Given the description of an element on the screen output the (x, y) to click on. 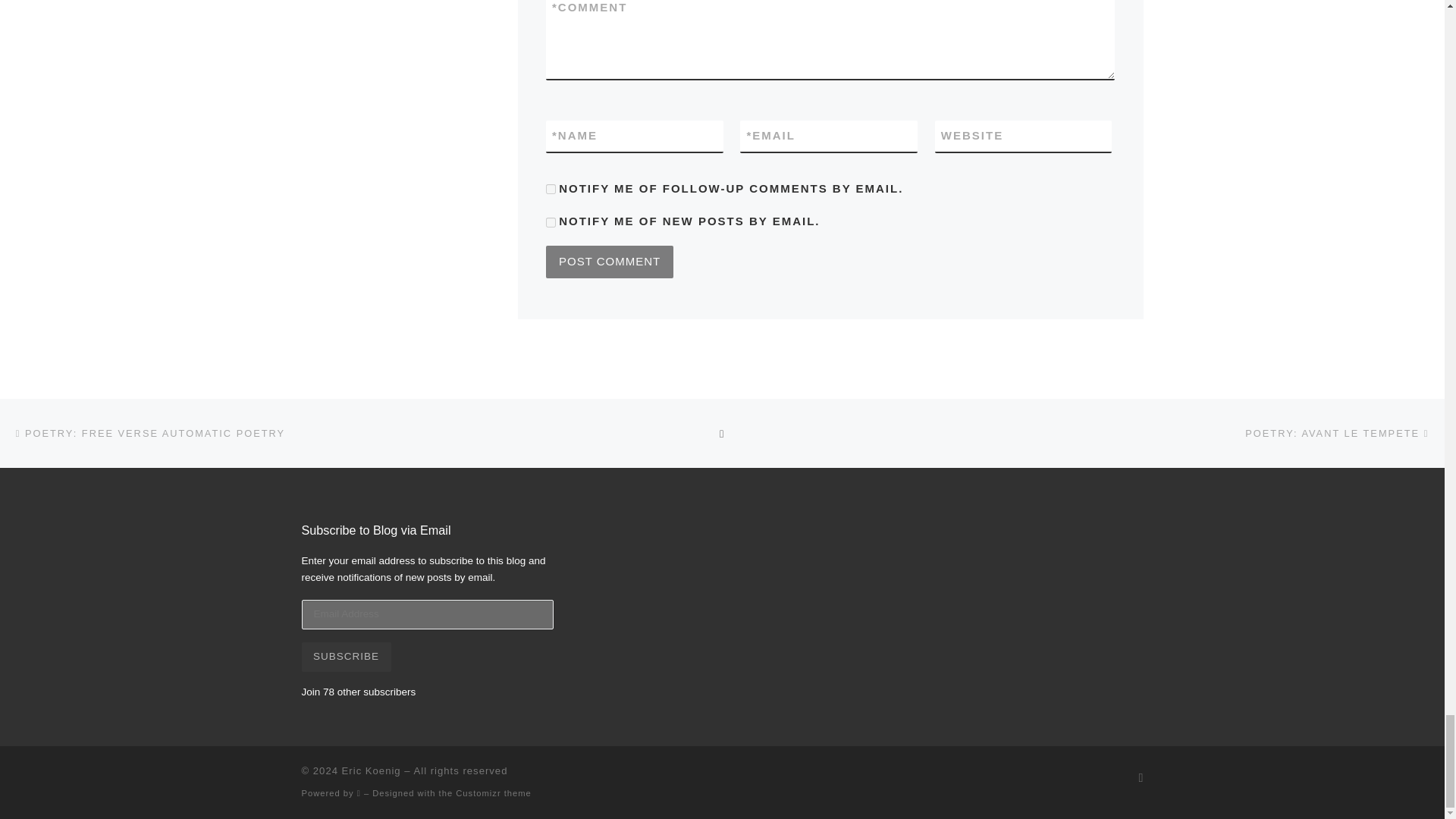
Post Comment (609, 262)
subscribe (551, 222)
subscribe (551, 189)
